Given the description of an element on the screen output the (x, y) to click on. 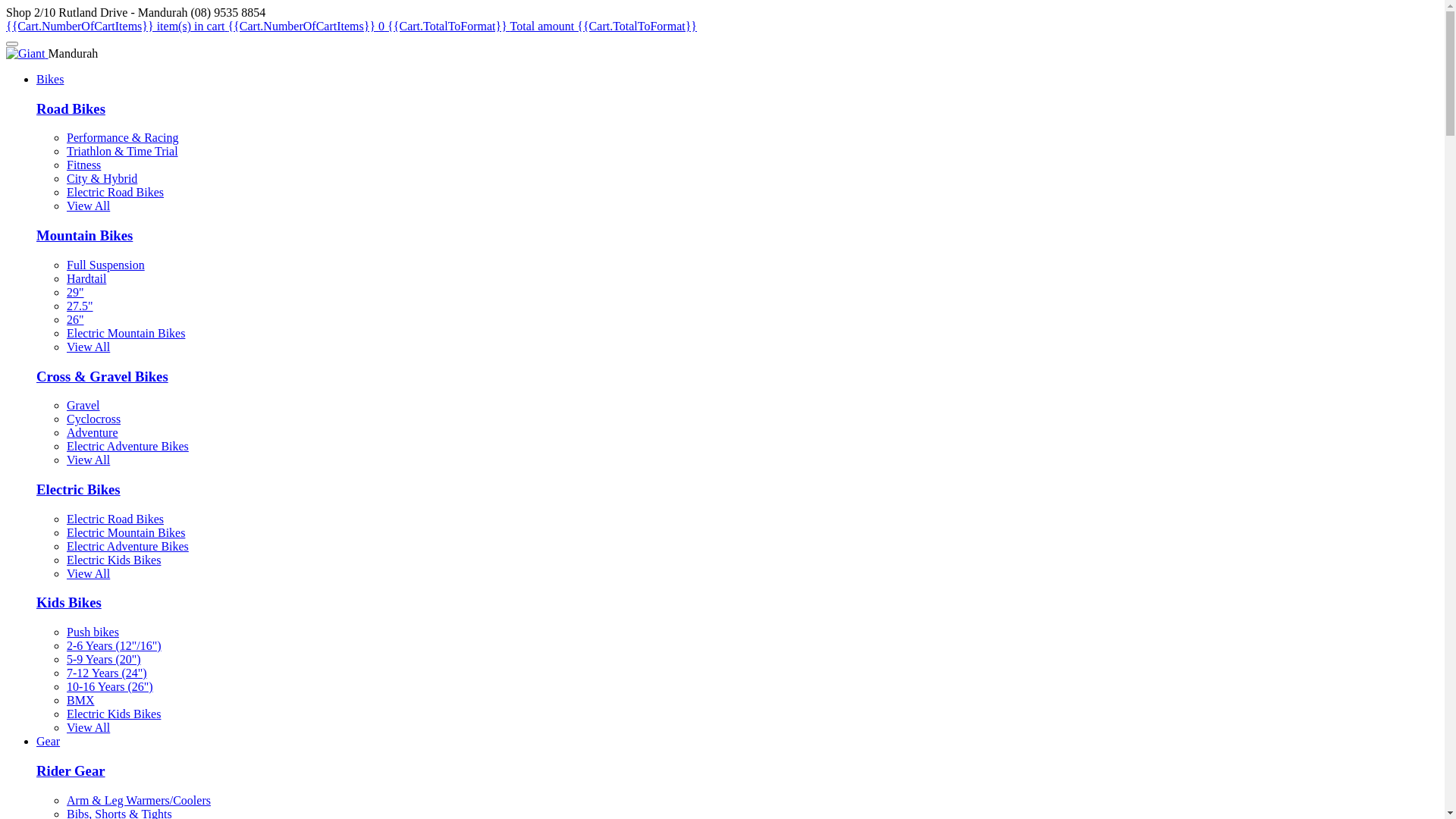
View All Element type: text (87, 459)
BMX Element type: text (80, 699)
26" Element type: text (75, 319)
View All Element type: text (87, 205)
Gravel Element type: text (83, 404)
Gear Element type: text (47, 740)
29" Element type: text (75, 291)
View All Element type: text (87, 346)
Electric Road Bikes Element type: text (114, 518)
Electric Adventure Bikes Element type: text (127, 445)
Performance & Racing Element type: text (122, 137)
Road Bikes Element type: text (70, 108)
Electric Road Bikes Element type: text (114, 191)
27.5" Element type: text (79, 305)
View All Element type: text (87, 573)
Electric Mountain Bikes Element type: text (125, 332)
Cross & Gravel Bikes Element type: text (102, 376)
View All Element type: text (87, 727)
City & Hybrid Element type: text (101, 178)
Bikes Element type: text (49, 78)
Electric Kids Bikes Element type: text (113, 559)
Rider Gear Element type: text (70, 770)
Triathlon & Time Trial Element type: text (122, 150)
Electric Mountain Bikes Element type: text (125, 532)
Fitness Element type: text (83, 164)
Electric Kids Bikes Element type: text (113, 713)
Cyclocross Element type: text (93, 418)
Full Suspension Element type: text (105, 264)
Adventure Element type: text (92, 432)
Kids Bikes Element type: text (68, 602)
Mountain Bikes Element type: text (84, 235)
5-9 Years (20") Element type: text (103, 658)
7-12 Years (24") Element type: text (106, 672)
Arm & Leg Warmers/Coolers Element type: text (138, 799)
Push bikes Element type: text (92, 631)
Hardtail Element type: text (86, 278)
10-16 Years (26") Element type: text (109, 686)
2-6 Years (12"/16") Element type: text (113, 645)
Electric Adventure Bikes Element type: text (127, 545)
Electric Bikes Element type: text (78, 489)
